Given the description of an element on the screen output the (x, y) to click on. 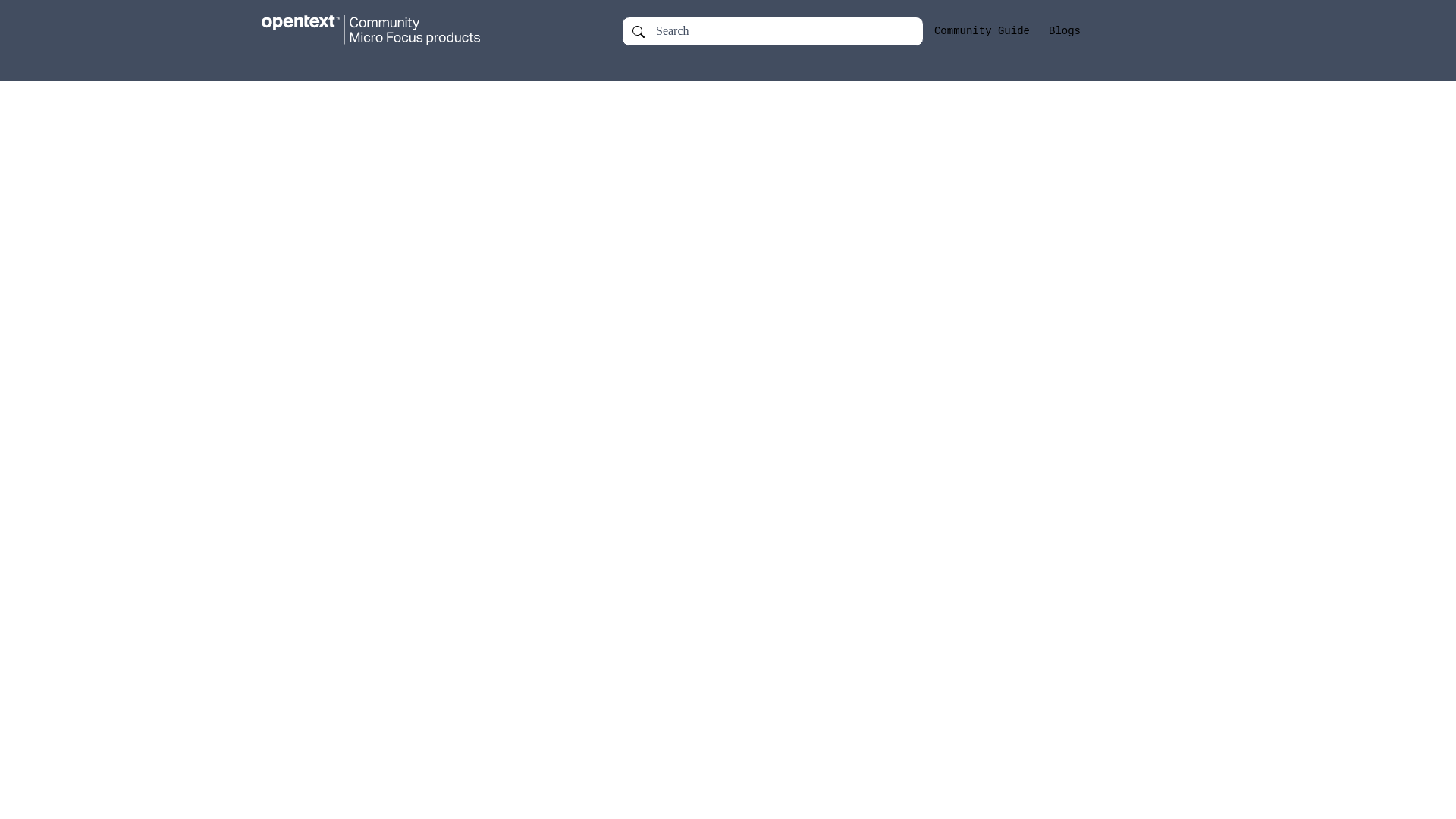
Blogs (1064, 31)
Community Guide (981, 31)
Home (385, 30)
